Given the description of an element on the screen output the (x, y) to click on. 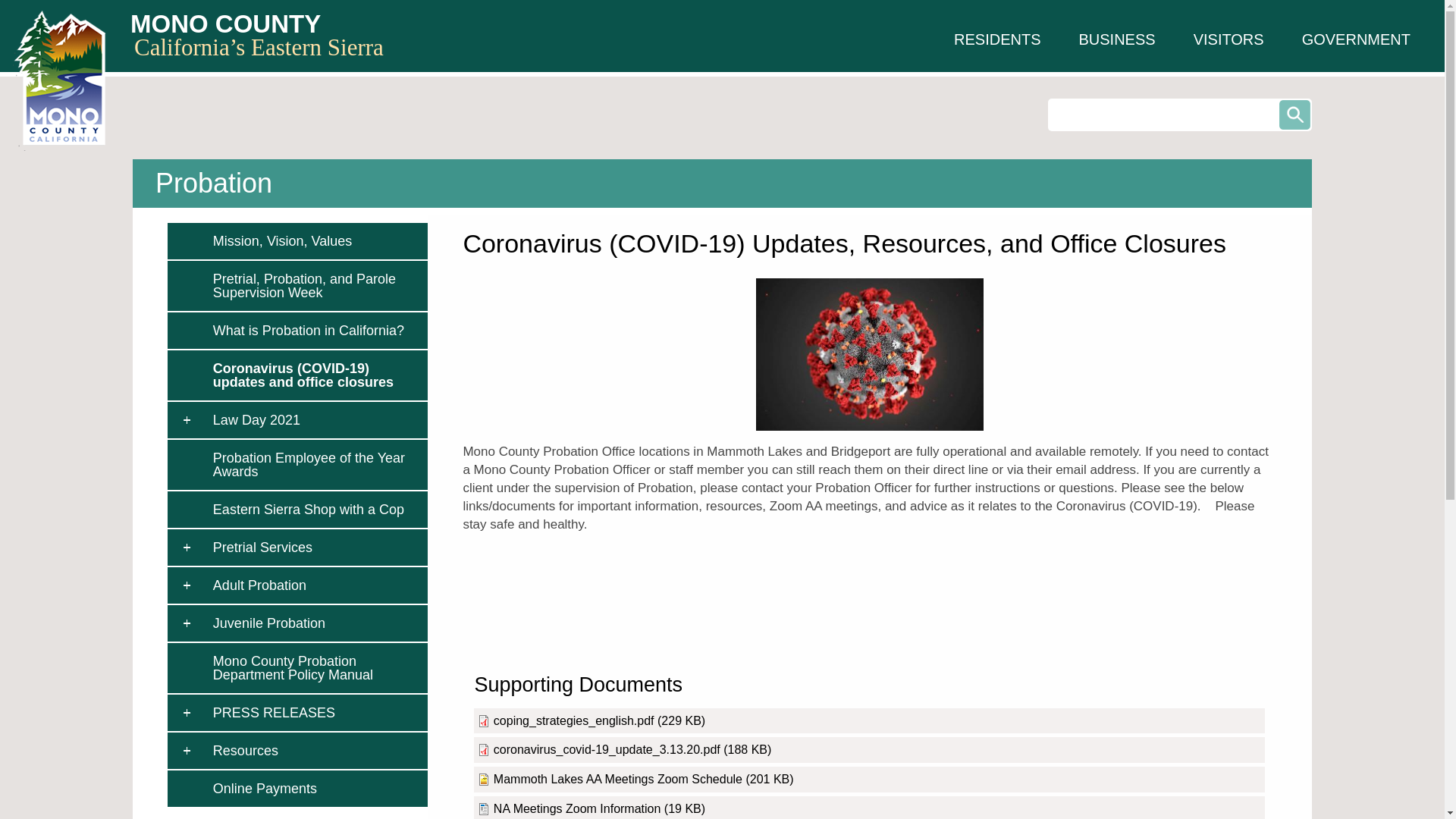
Enter the terms you wish to search for. (1179, 114)
Search (1294, 114)
RESIDENTS (997, 39)
